Given the description of an element on the screen output the (x, y) to click on. 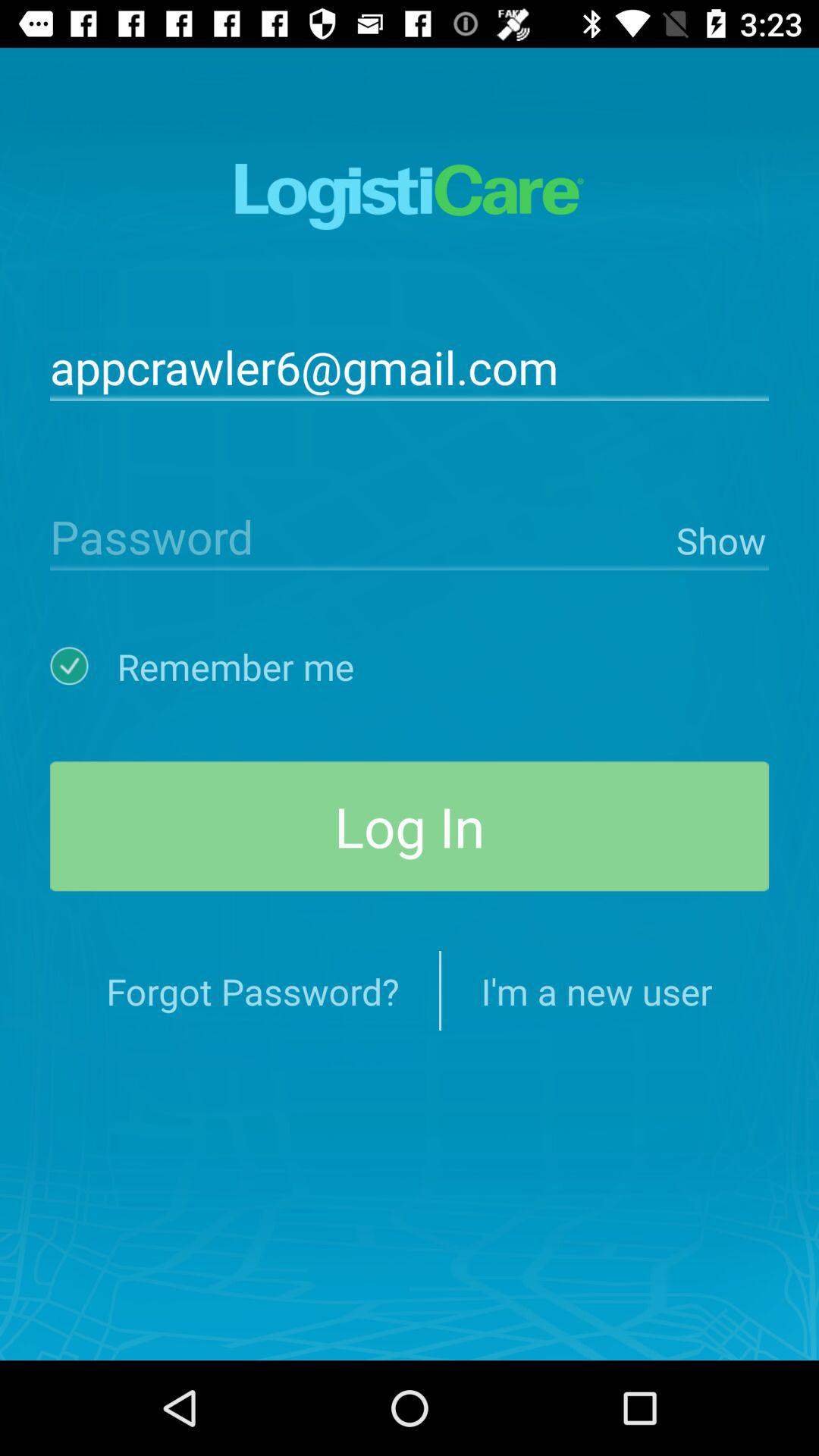
press i m a item (596, 990)
